Given the description of an element on the screen output the (x, y) to click on. 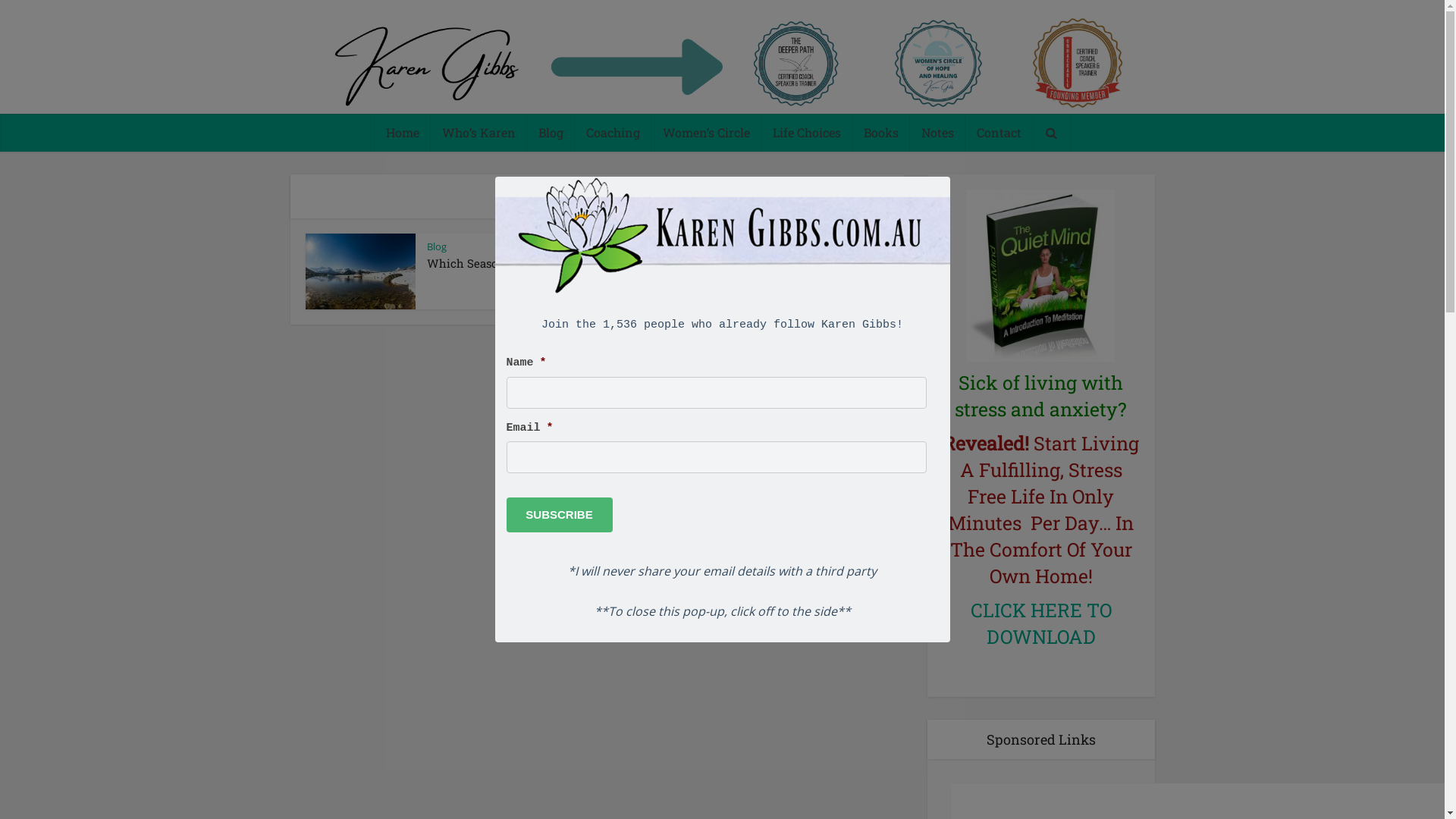
Home Element type: text (402, 132)
Books Element type: text (881, 132)
Empowering Connections Element type: hover (721, 61)
Contact Element type: text (998, 132)
CLICK HERE TO DOWNLOAD Element type: text (1040, 623)
Life Choices Element type: text (806, 132)
Notes Element type: text (937, 132)
Which Season Are You Element type: text (487, 262)
Coaching Element type: text (612, 132)
Blog Element type: text (550, 132)
Subscribe Element type: text (559, 514)
Blog Element type: text (435, 246)
